Given the description of an element on the screen output the (x, y) to click on. 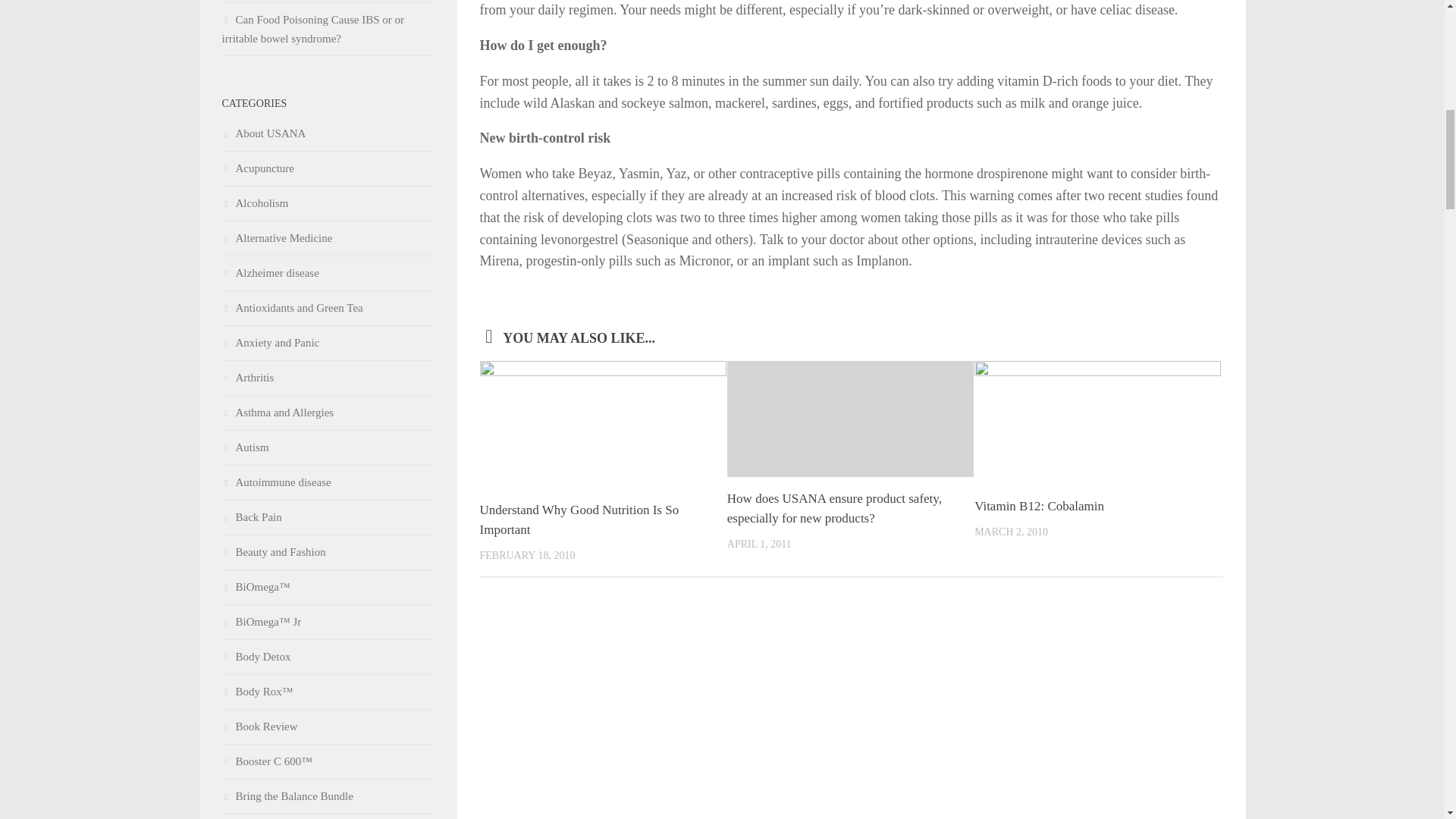
Permalink to Vitamin B12: Cobalamin (1038, 505)
About USANA company (263, 133)
Vitamin B12: Cobalamin (1038, 505)
Permalink to Understand Why Good Nutrition Is So Important (578, 519)
Understand Why Good Nutrition Is So Important (578, 519)
